Given the description of an element on the screen output the (x, y) to click on. 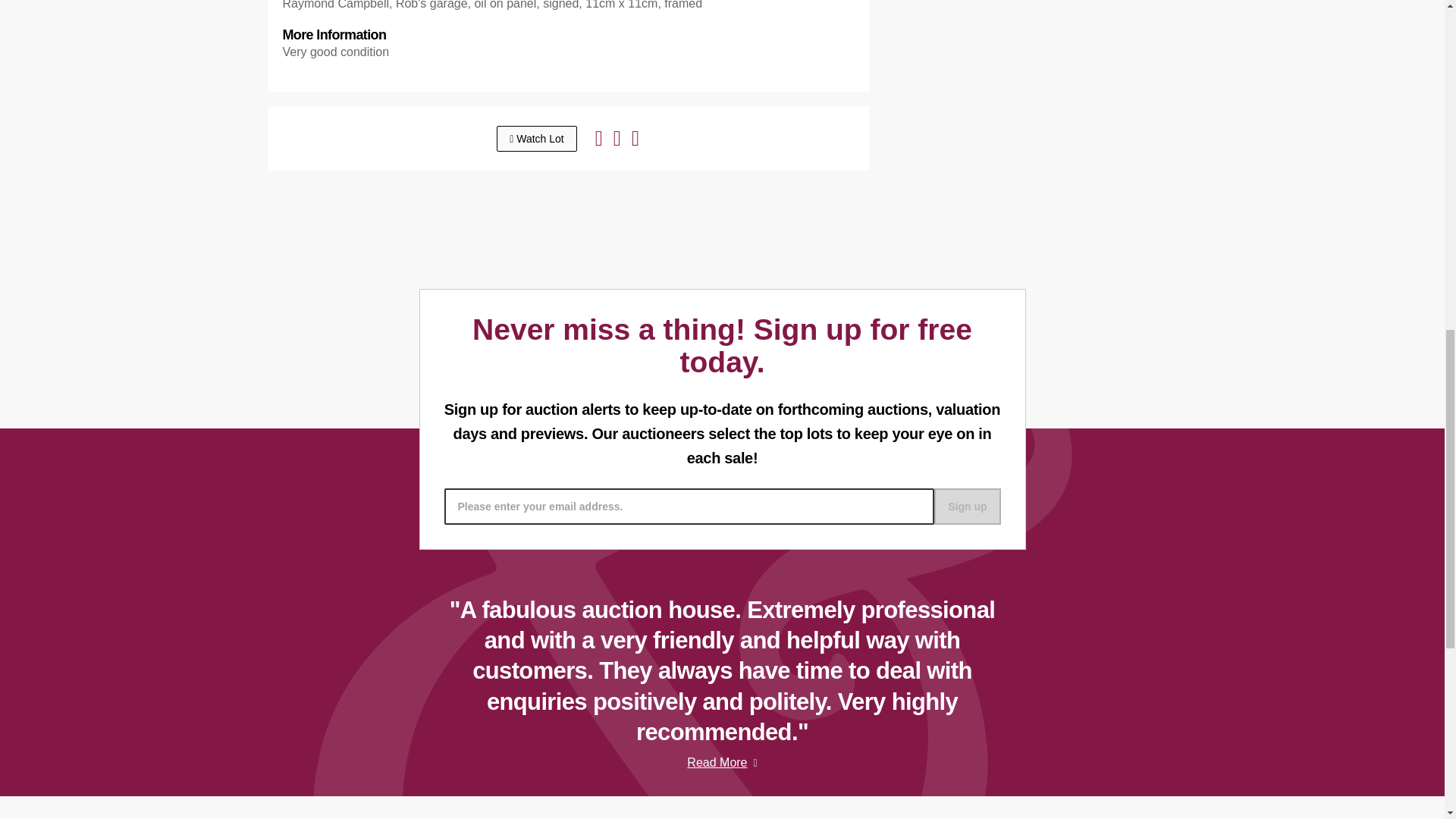
Sign up (967, 506)
